Given the description of an element on the screen output the (x, y) to click on. 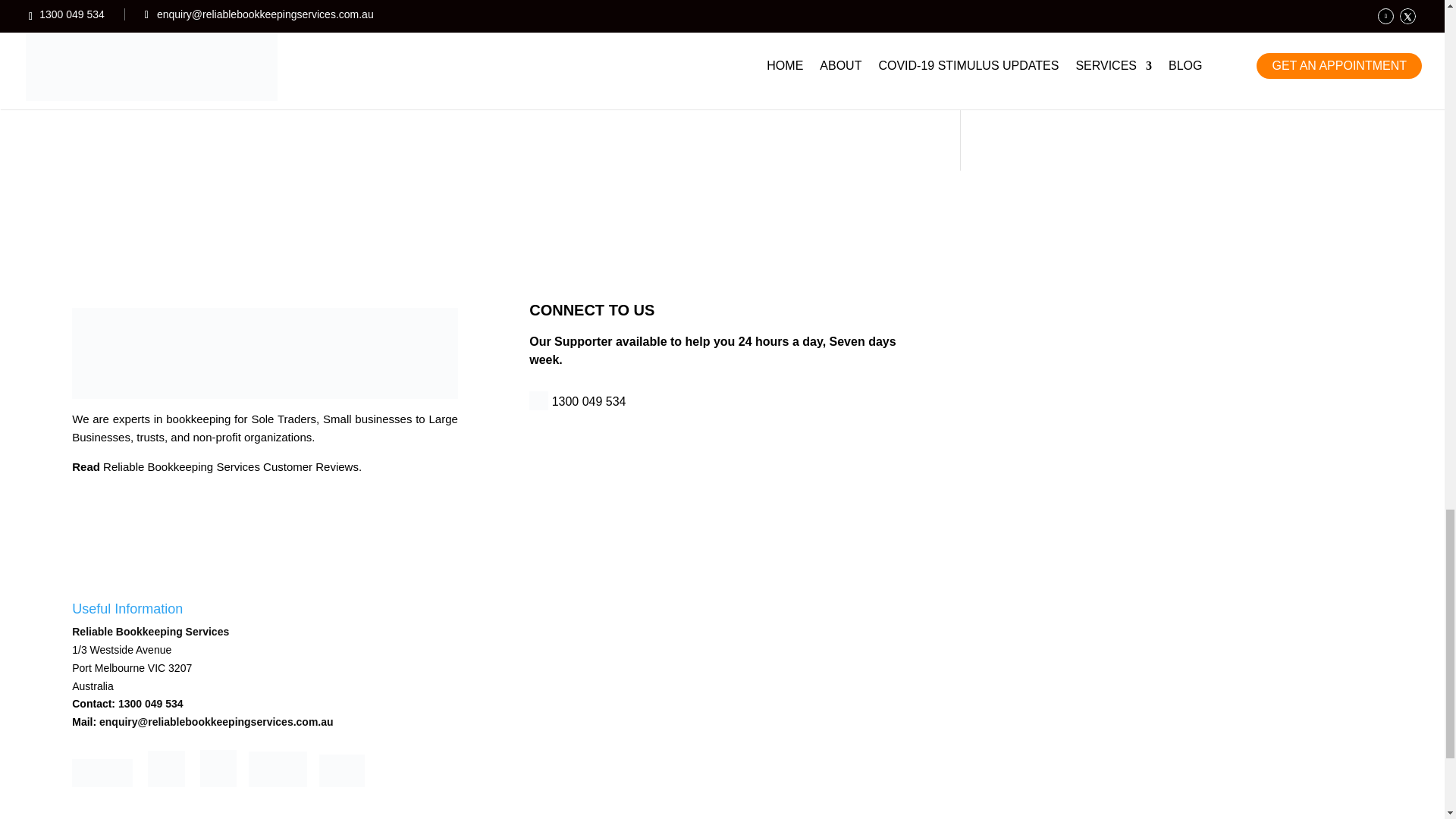
Reliable Bookkeeping Services (643, 468)
Difference between Short and Long Term Financing (442, 96)
Bookkeeping Services (410, 38)
